Given the description of an element on the screen output the (x, y) to click on. 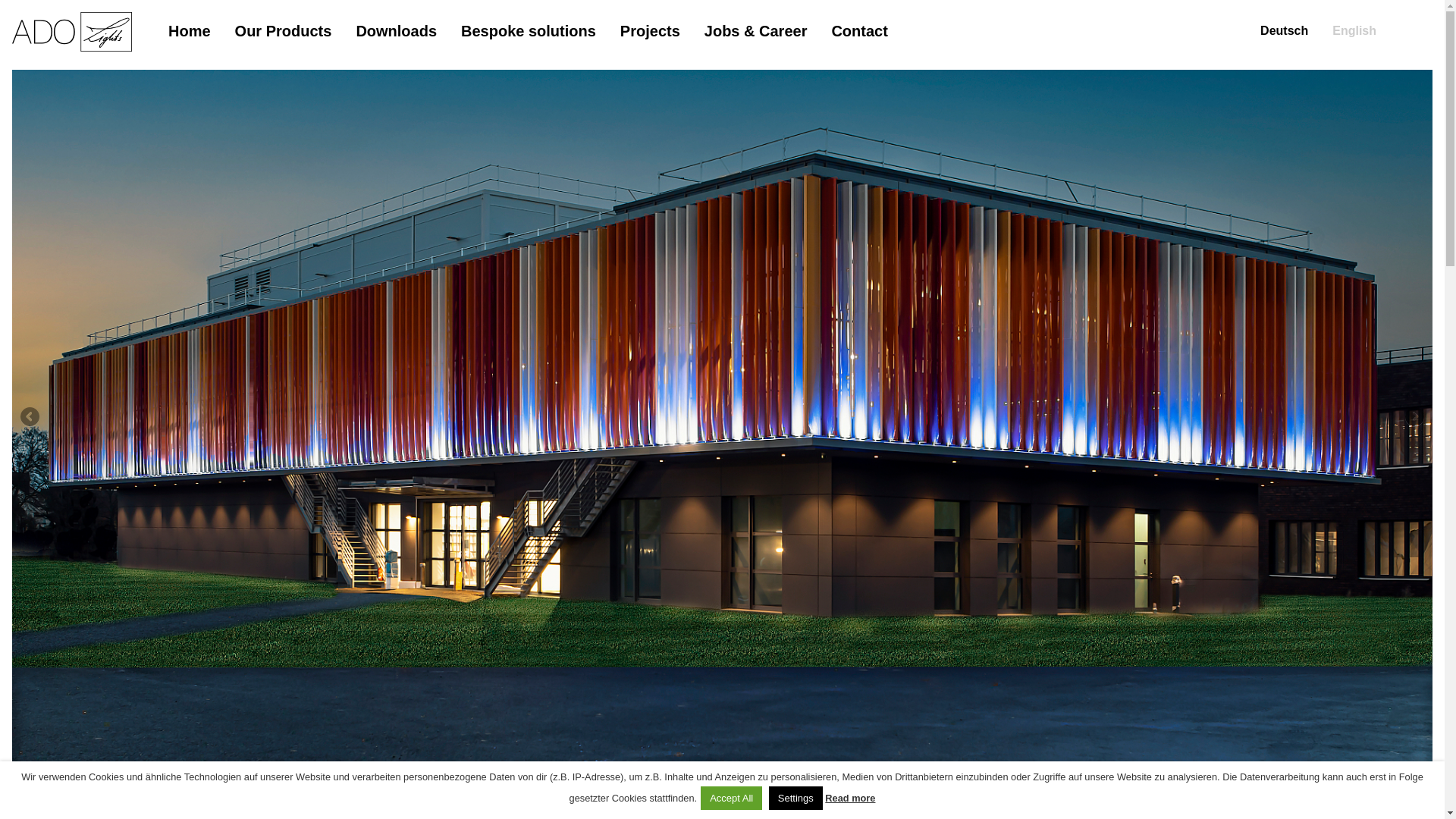
Deutsch (1283, 30)
Next (1413, 417)
Contact (858, 30)
ADO Lights (71, 47)
English (1353, 30)
Home (189, 30)
Our Products (282, 30)
Projects (649, 30)
English (1353, 30)
Downloads (395, 30)
Previous (31, 417)
Deutsch (1283, 30)
Bespoke solutions (528, 30)
